Given the description of an element on the screen output the (x, y) to click on. 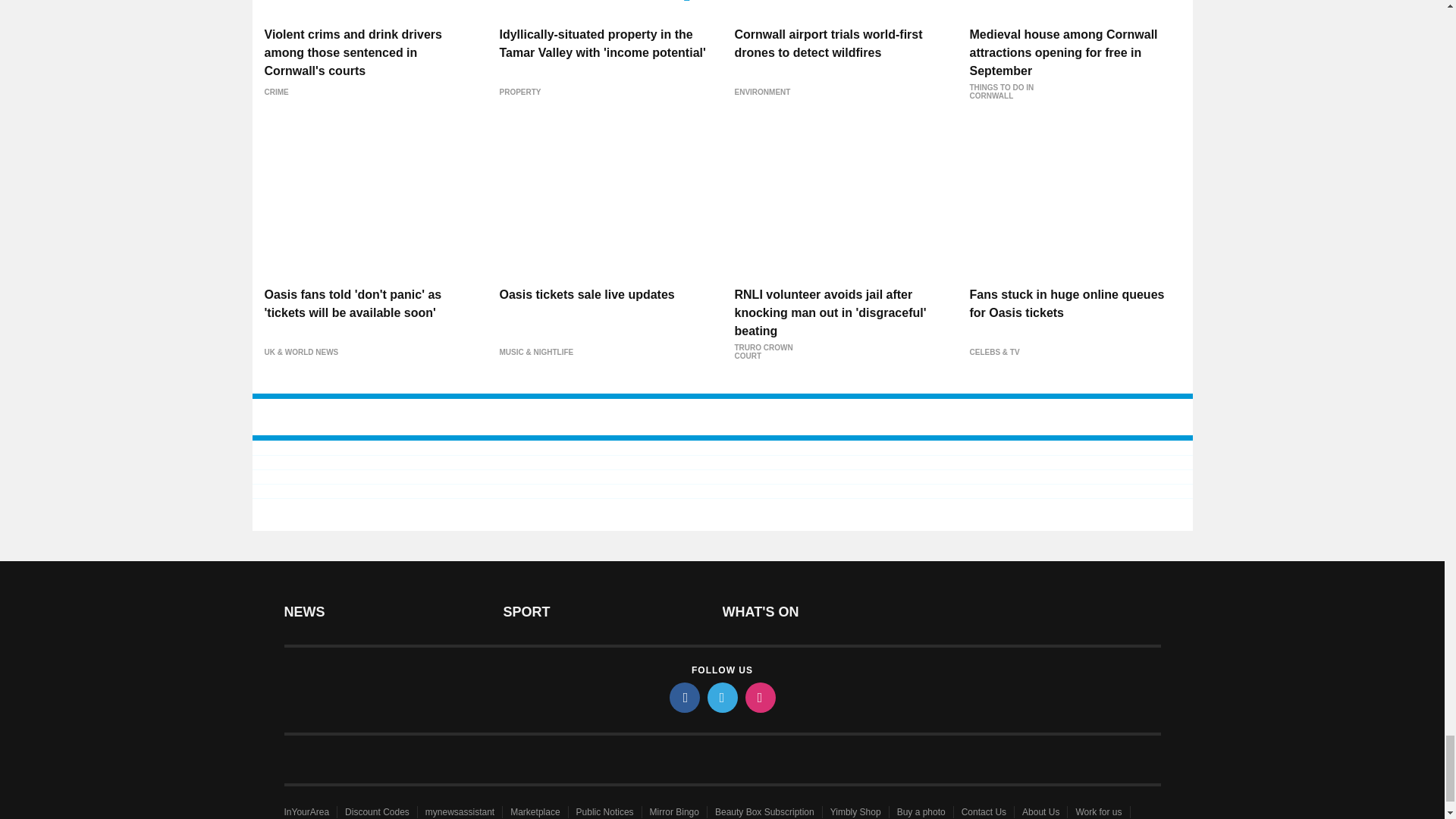
twitter (721, 697)
facebook (683, 697)
instagram (759, 697)
